Given the description of an element on the screen output the (x, y) to click on. 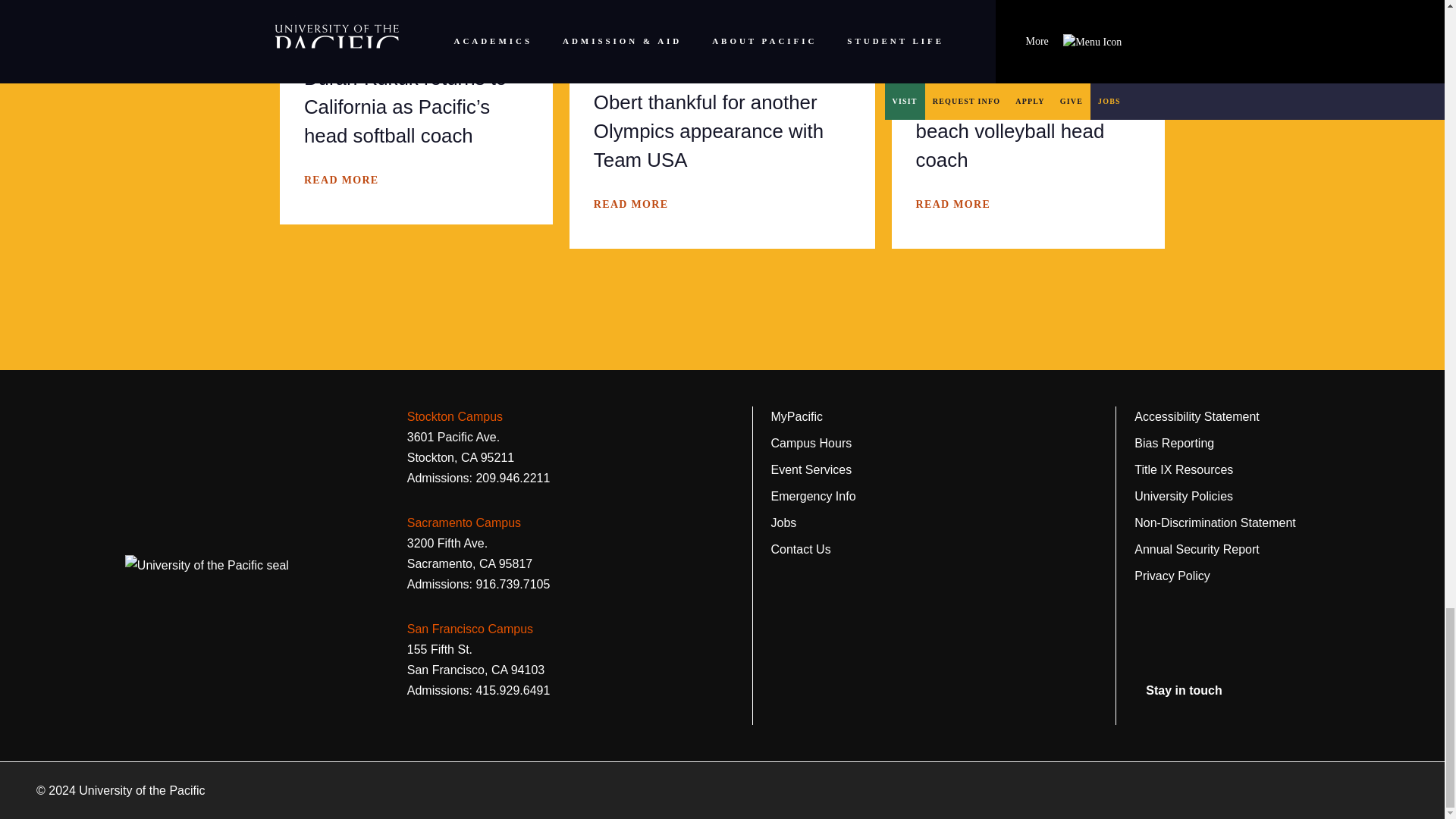
Bias and Discriminatory Harassment Policies and Protocols (1174, 443)
